Given the description of an element on the screen output the (x, y) to click on. 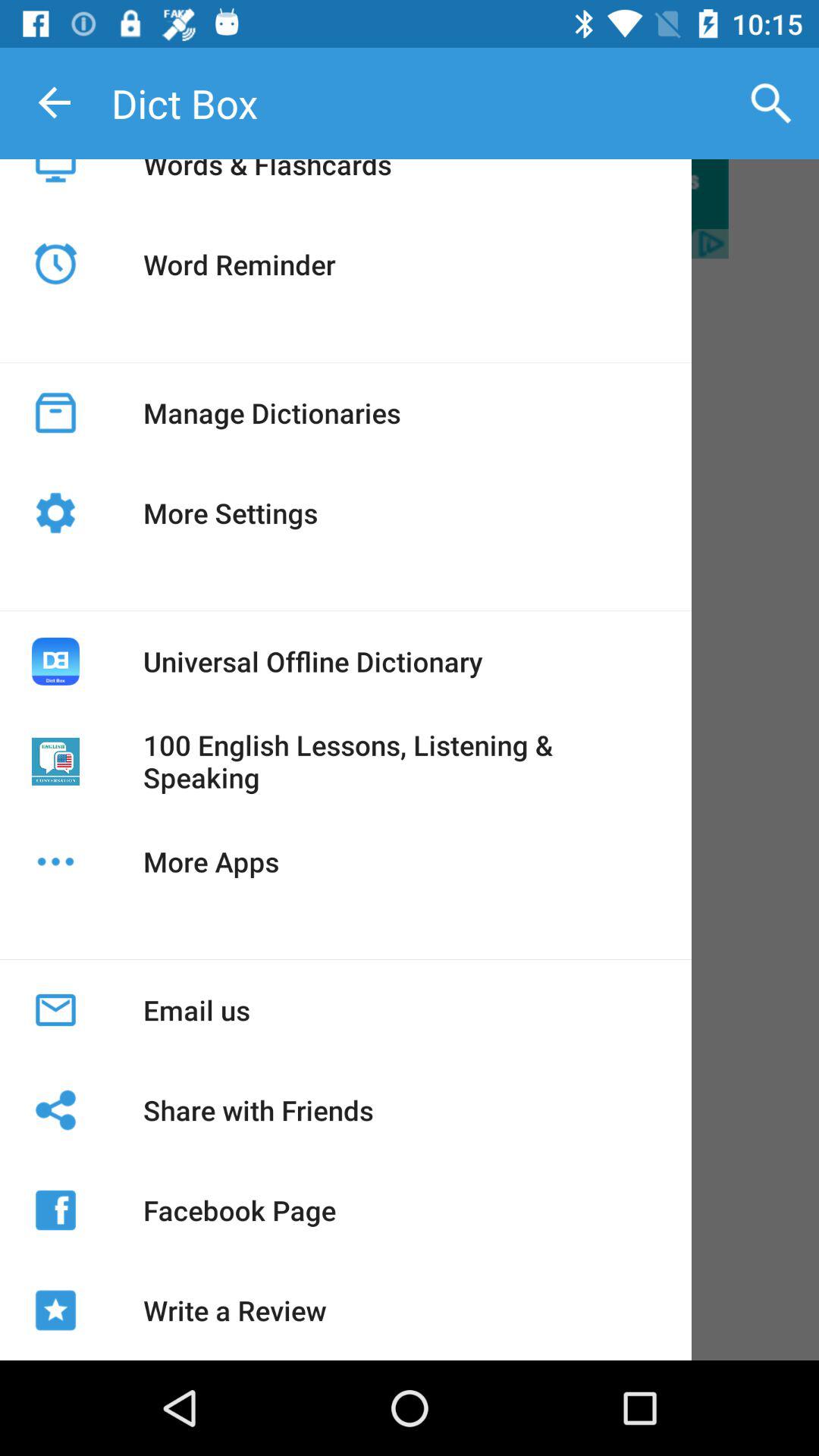
open app below universal offline dictionary icon (401, 761)
